Given the description of an element on the screen output the (x, y) to click on. 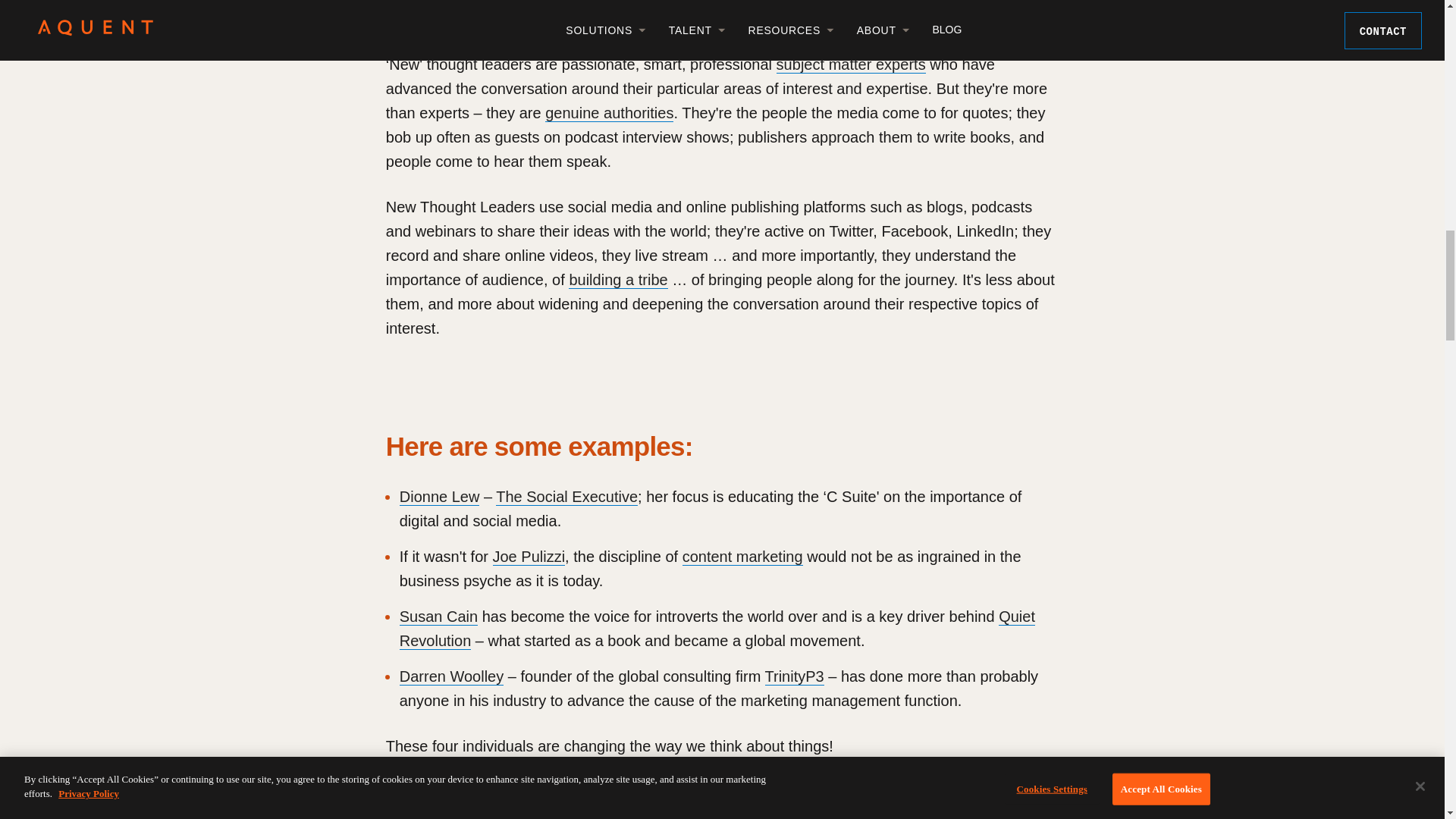
genuine authorities (608, 113)
subject matter experts (851, 64)
Professional authenticity: Can you be too authentic online (608, 113)
3 tips for designing a career of distinction (851, 64)
